Given the description of an element on the screen output the (x, y) to click on. 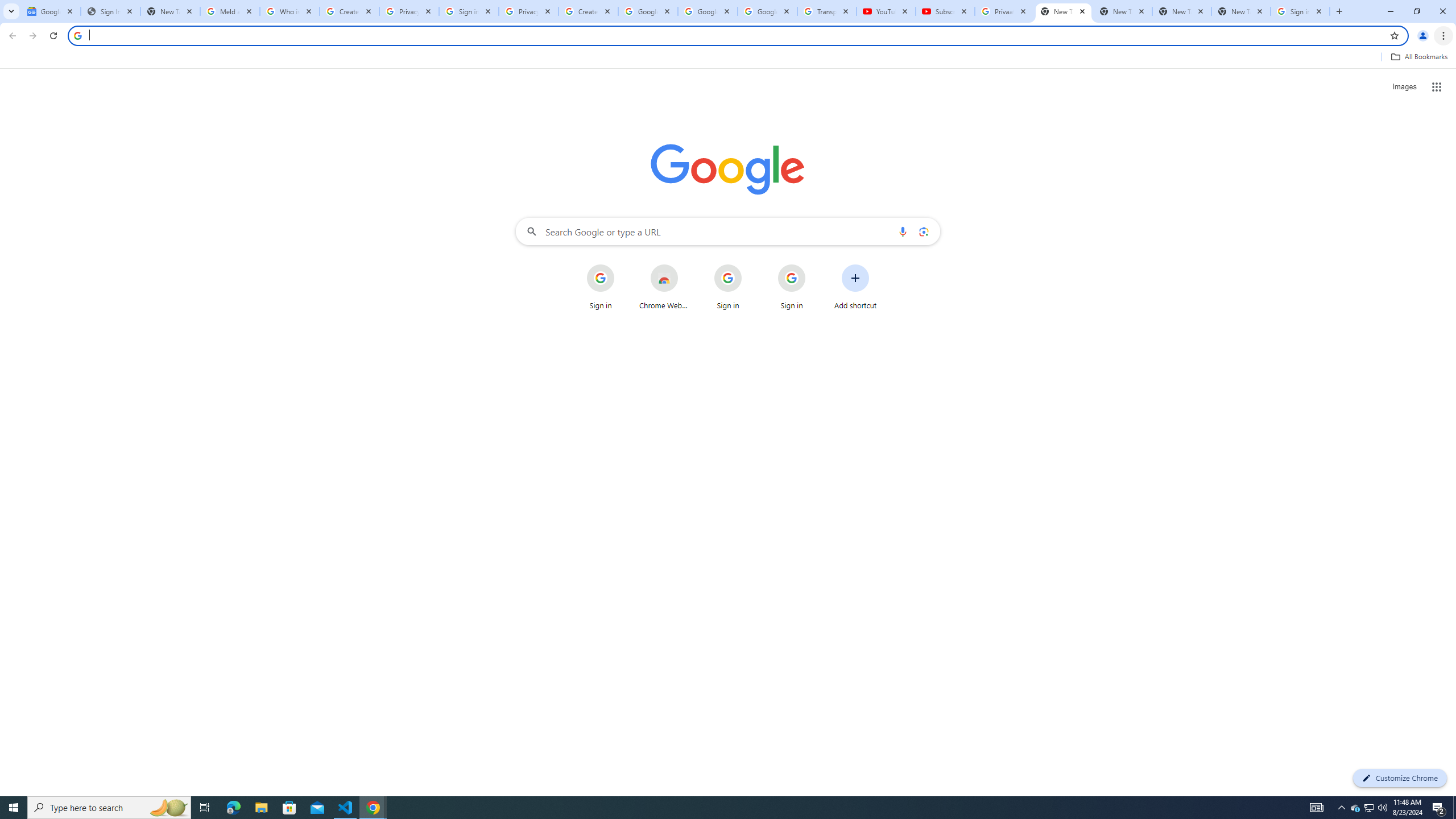
Create your Google Account (349, 11)
Chrome Web Store (663, 287)
Search Google or type a URL (727, 230)
Bookmarks (728, 58)
New Tab (1241, 11)
